Given the description of an element on the screen output the (x, y) to click on. 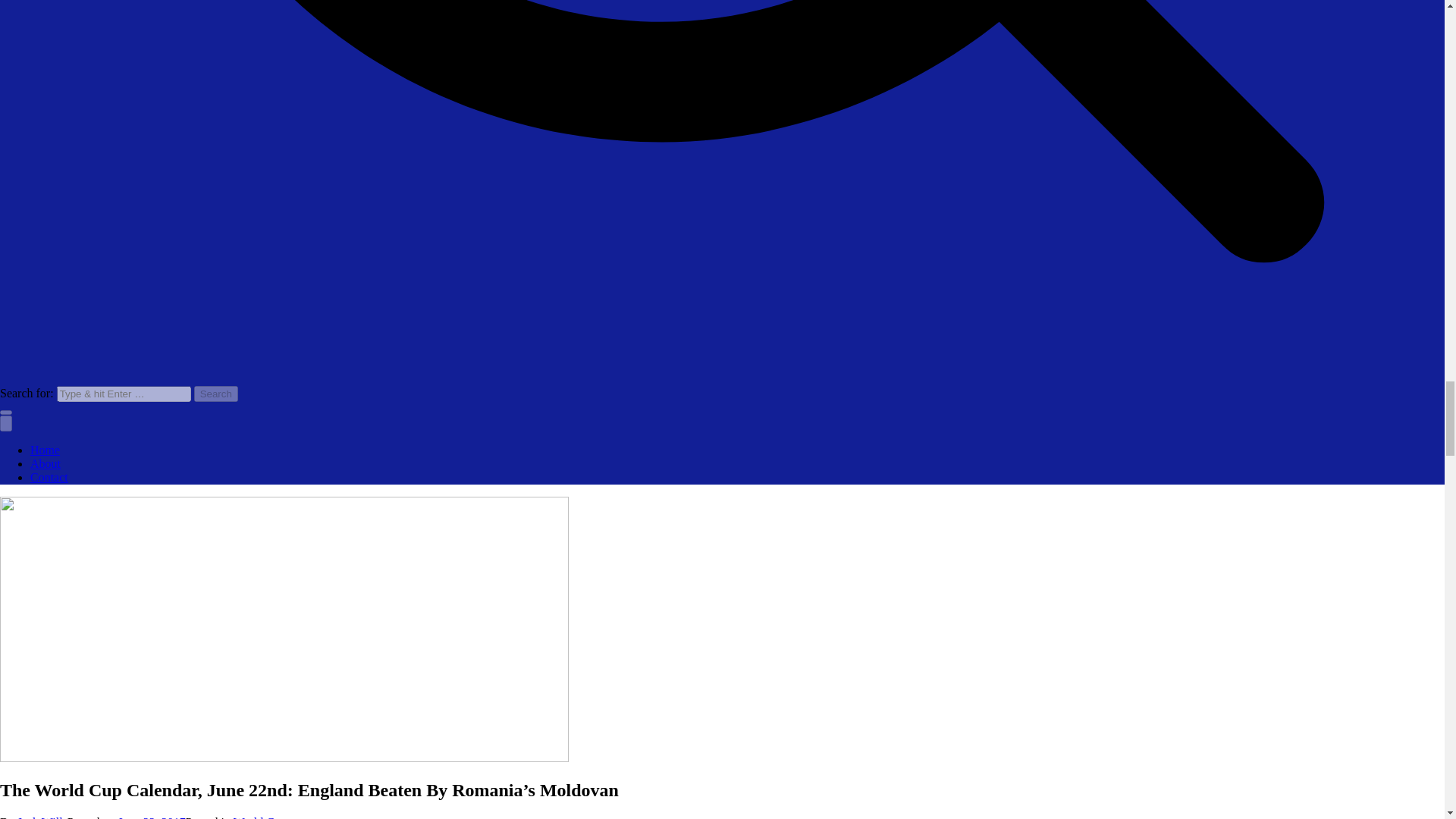
Search (215, 393)
World Cup (259, 817)
Search (215, 393)
Jack Wills (41, 817)
About (45, 463)
Home (44, 449)
Search (215, 393)
June 22, 2017 (151, 817)
Search for: (123, 393)
Contact (49, 477)
